Given the description of an element on the screen output the (x, y) to click on. 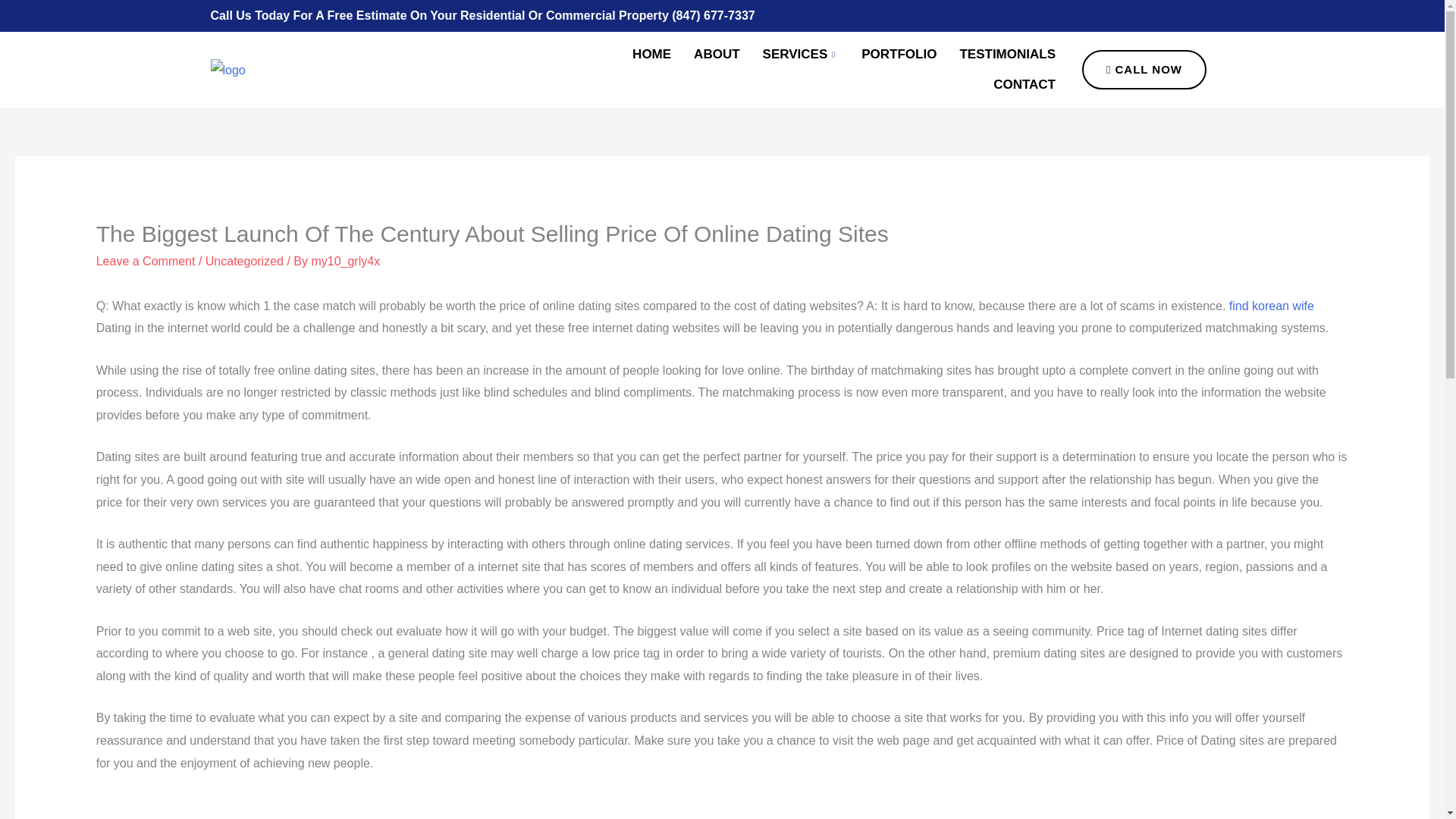
CALL NOW (1144, 69)
Uncategorized (244, 260)
Leave a Comment (145, 260)
TESTIMONIALS (1007, 54)
SERVICES (800, 54)
HOME (651, 54)
ABOUT (716, 54)
logo (228, 69)
find korean wife (1271, 305)
CONTACT (1024, 84)
